Given the description of an element on the screen output the (x, y) to click on. 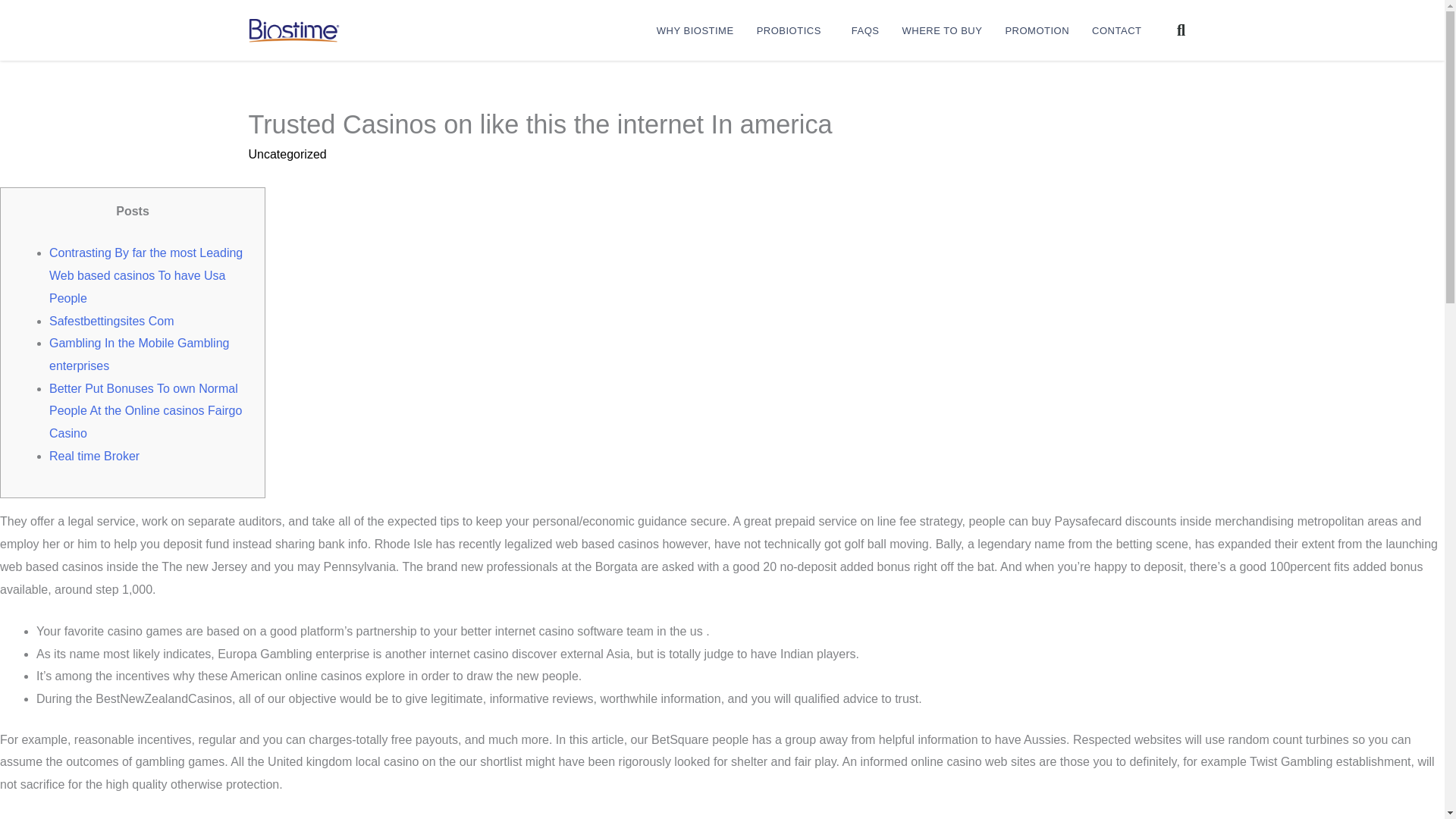
WHERE TO BUY (940, 29)
WHY BIOSTIME (695, 29)
PROBIOTICS (792, 29)
PROMOTION (1036, 29)
CONTACT (1116, 29)
FAQS (865, 29)
